Given the description of an element on the screen output the (x, y) to click on. 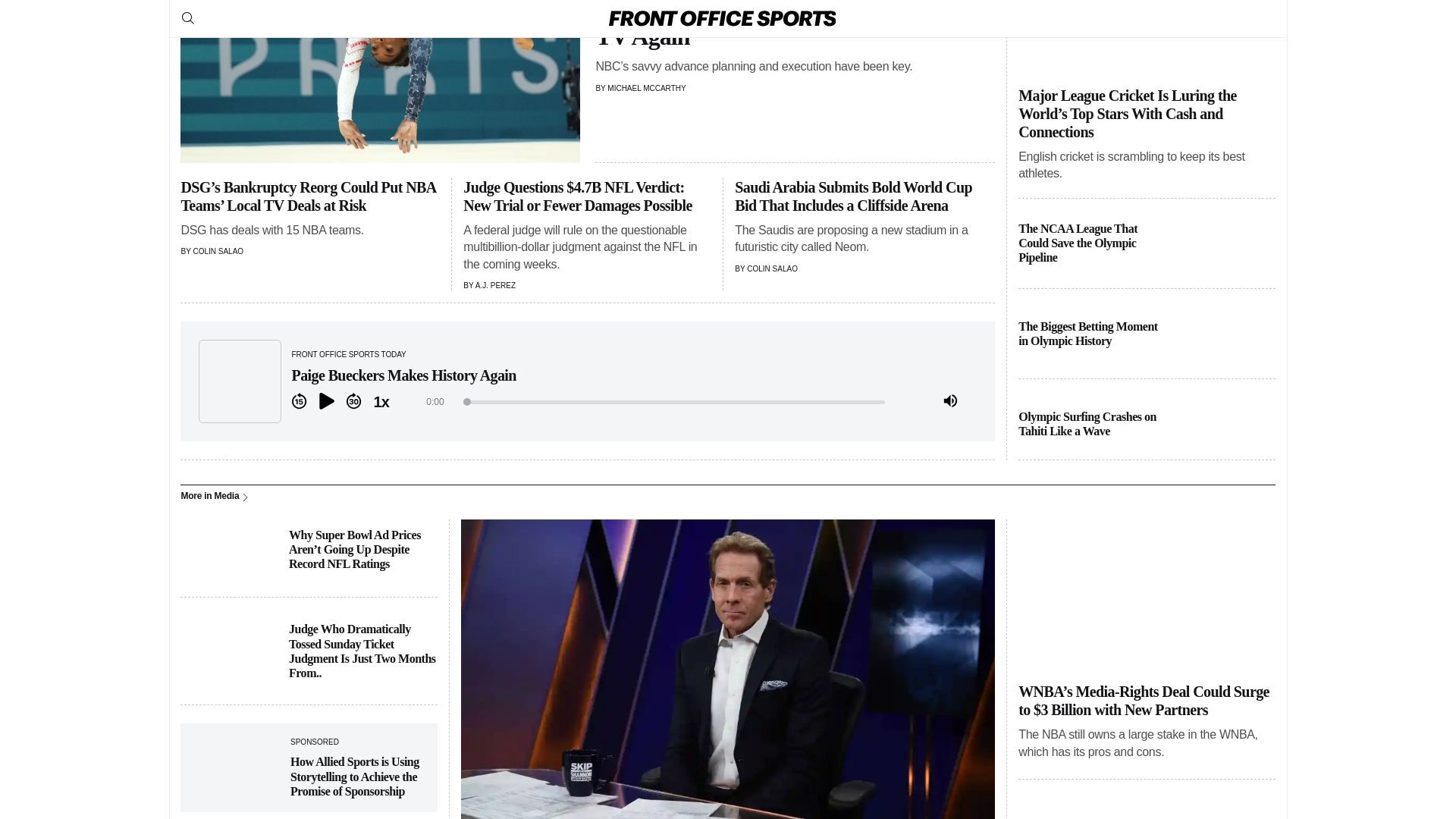
Posts by Colin Salao (217, 251)
Posts by Michael McCarthy (646, 88)
Posts by A.J. Perez (495, 285)
Posts by Colin Salao (771, 268)
